Given the description of an element on the screen output the (x, y) to click on. 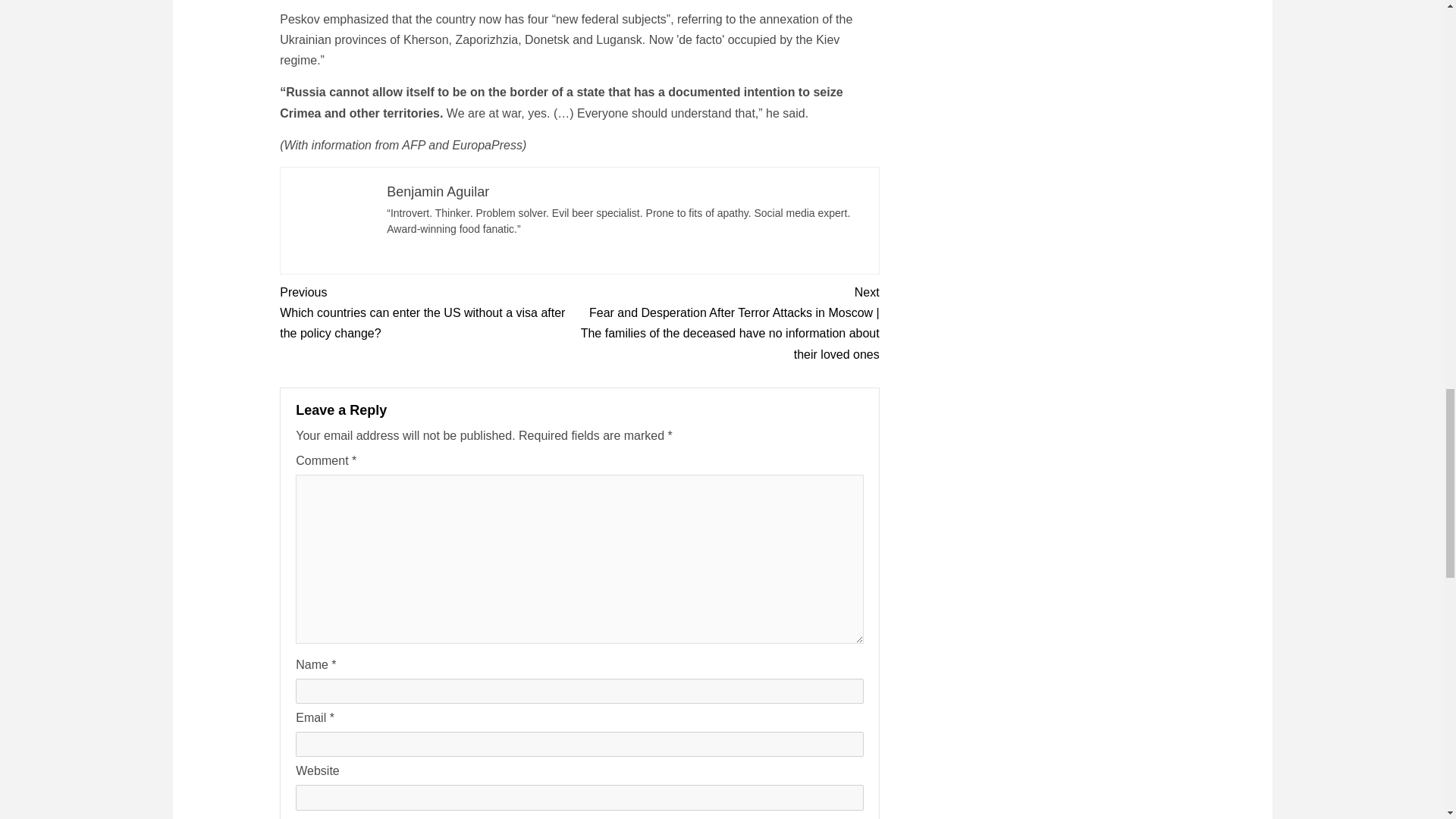
Benjamin Aguilar (438, 191)
